Given the description of an element on the screen output the (x, y) to click on. 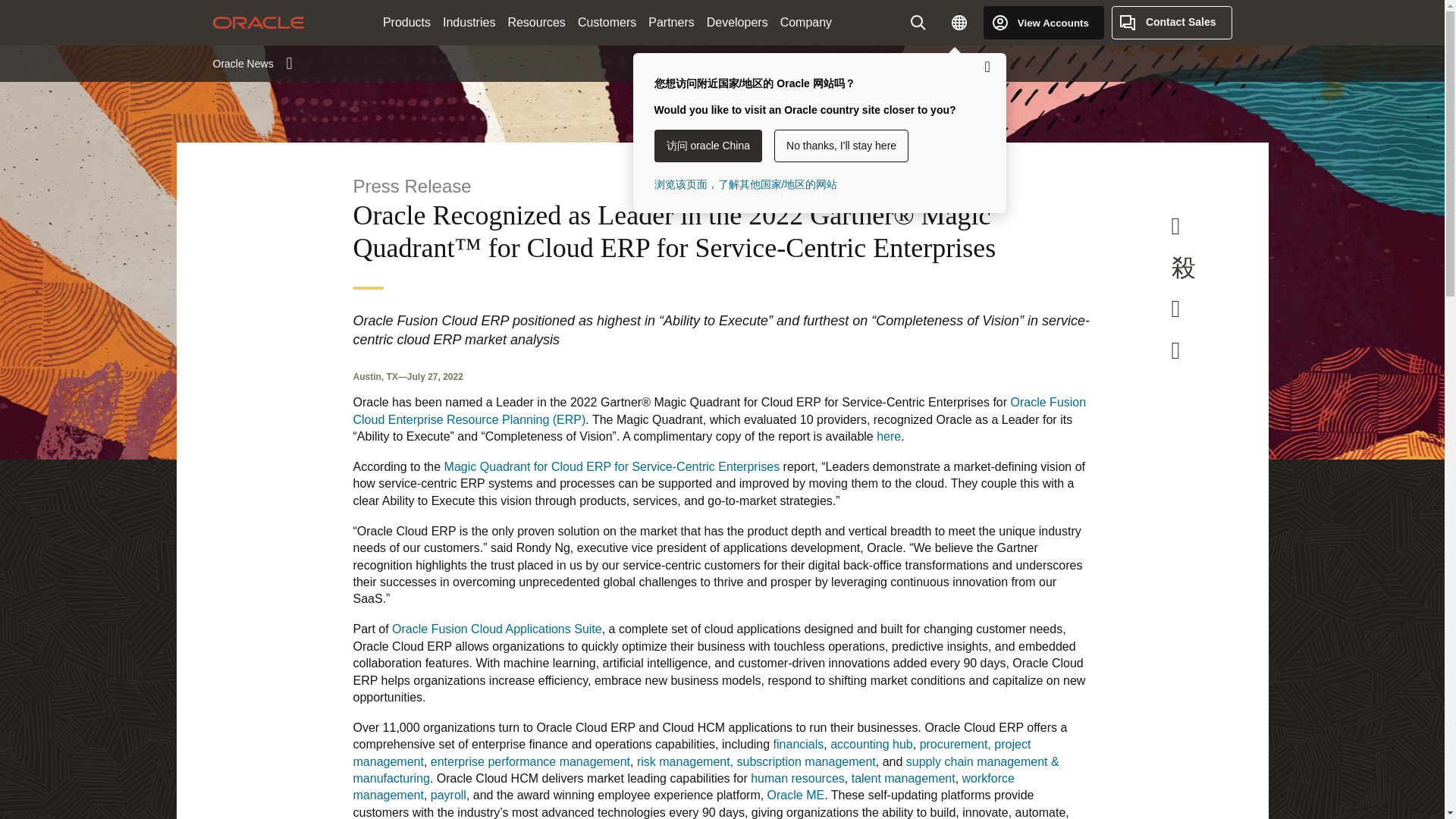
Resources (535, 22)
Oracle News (252, 63)
Oracle on Twitter (1182, 267)
Oracle Email (1174, 349)
Oracle on Linkedin (1174, 308)
Country (958, 22)
Contact Sales (1171, 22)
Industries (468, 22)
No thanks, I'll stay here (841, 145)
Products (406, 22)
View Accounts (1043, 22)
Contact Sales (1171, 22)
Oracle on Facebook (1174, 225)
Partners (671, 22)
Developers (737, 22)
